Given the description of an element on the screen output the (x, y) to click on. 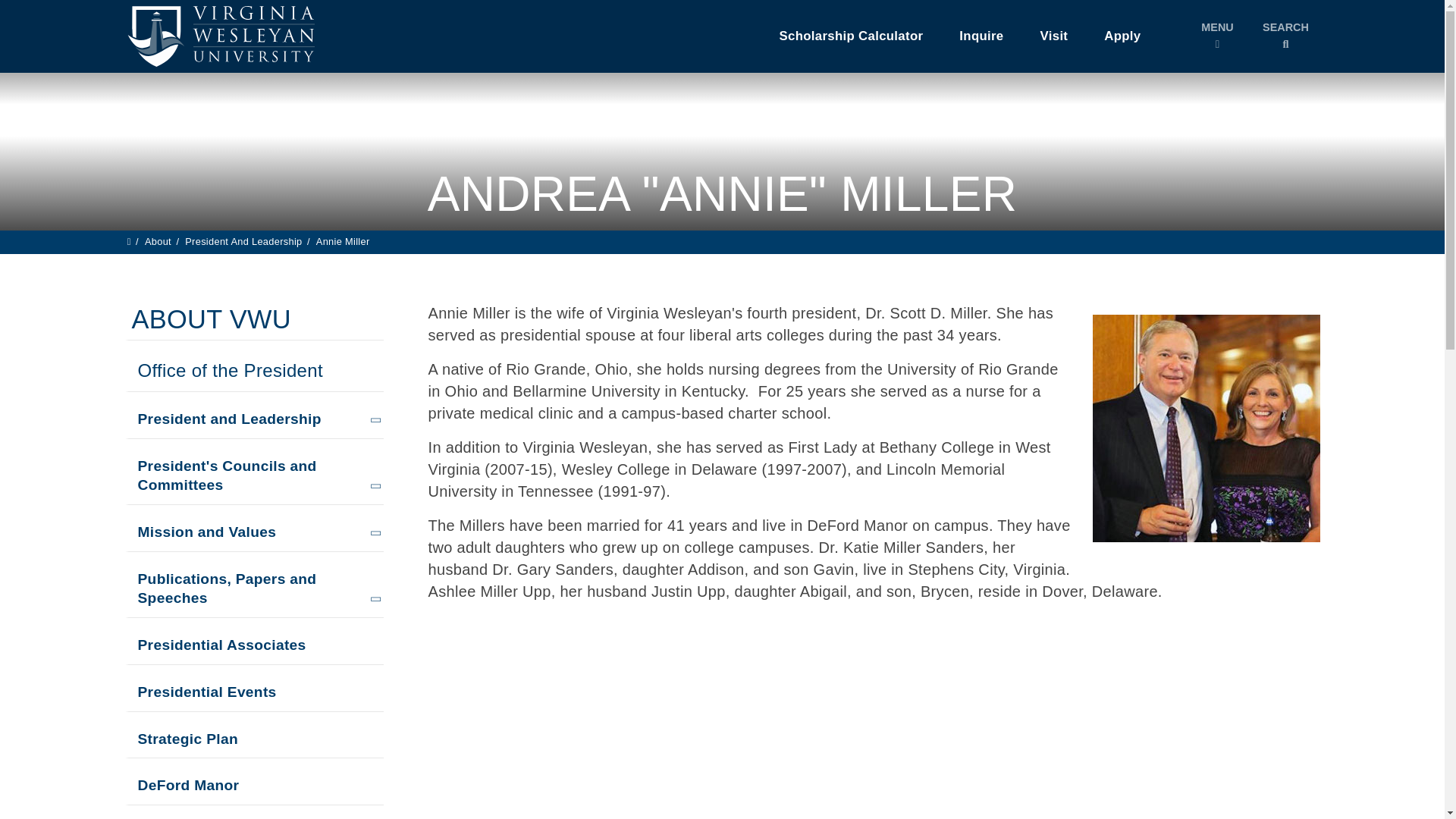
Apply (1122, 35)
SEARCH (1284, 35)
MENU (1216, 35)
Scholarship Calculator (851, 35)
Visit (1054, 35)
Inquire (980, 35)
VWU Homemage (218, 35)
